Given the description of an element on the screen output the (x, y) to click on. 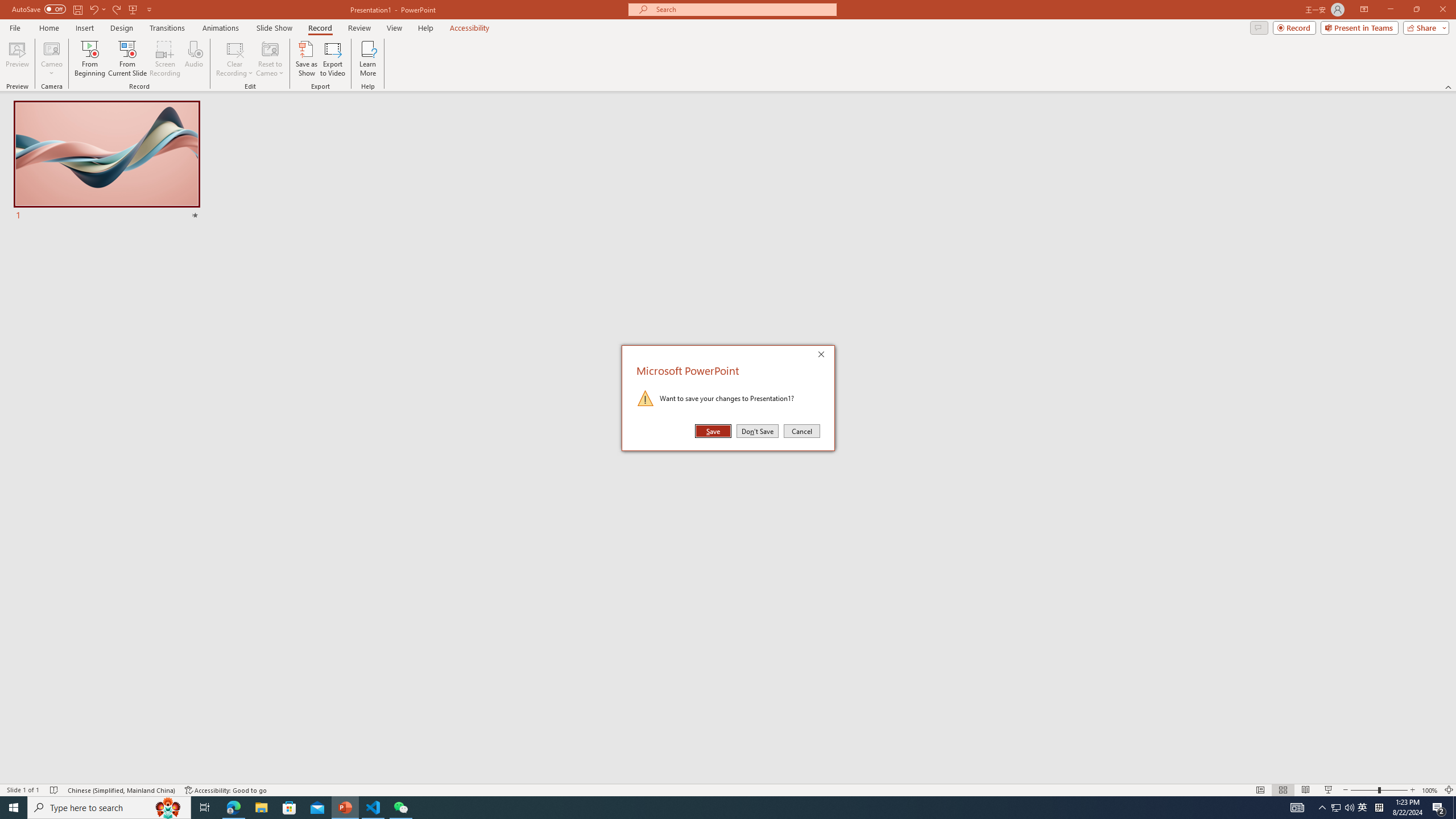
Clear Recording (234, 58)
Microsoft Edge - 1 running window (233, 807)
WeChat - 1 running window (400, 807)
Learn More (368, 58)
